Given the description of an element on the screen output the (x, y) to click on. 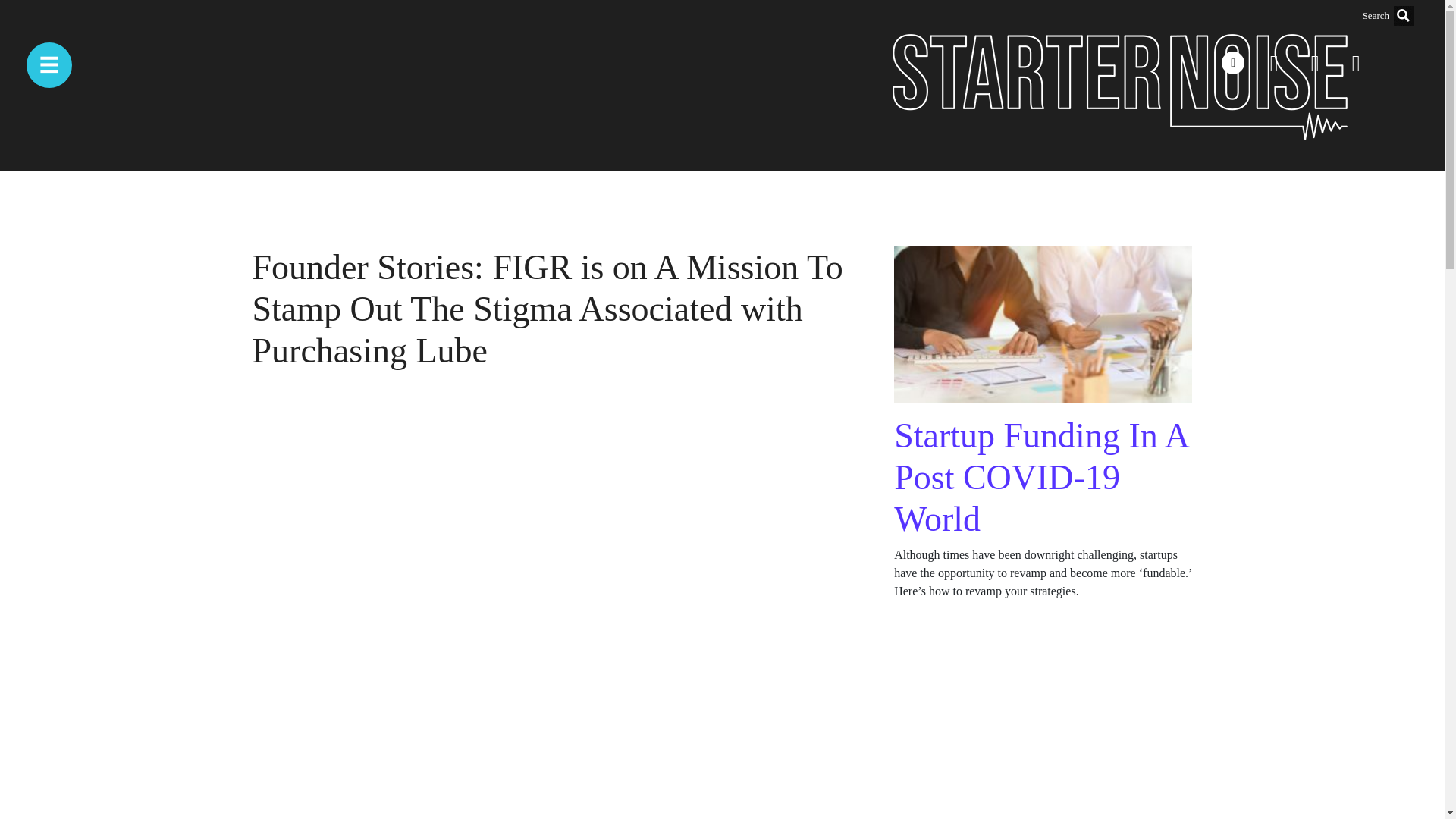
Search (16, 119)
? (1403, 15)
Subscribe (27, 784)
search (1329, 15)
Startup Funding In A Post COVID-19 World (1040, 477)
